Given the description of an element on the screen output the (x, y) to click on. 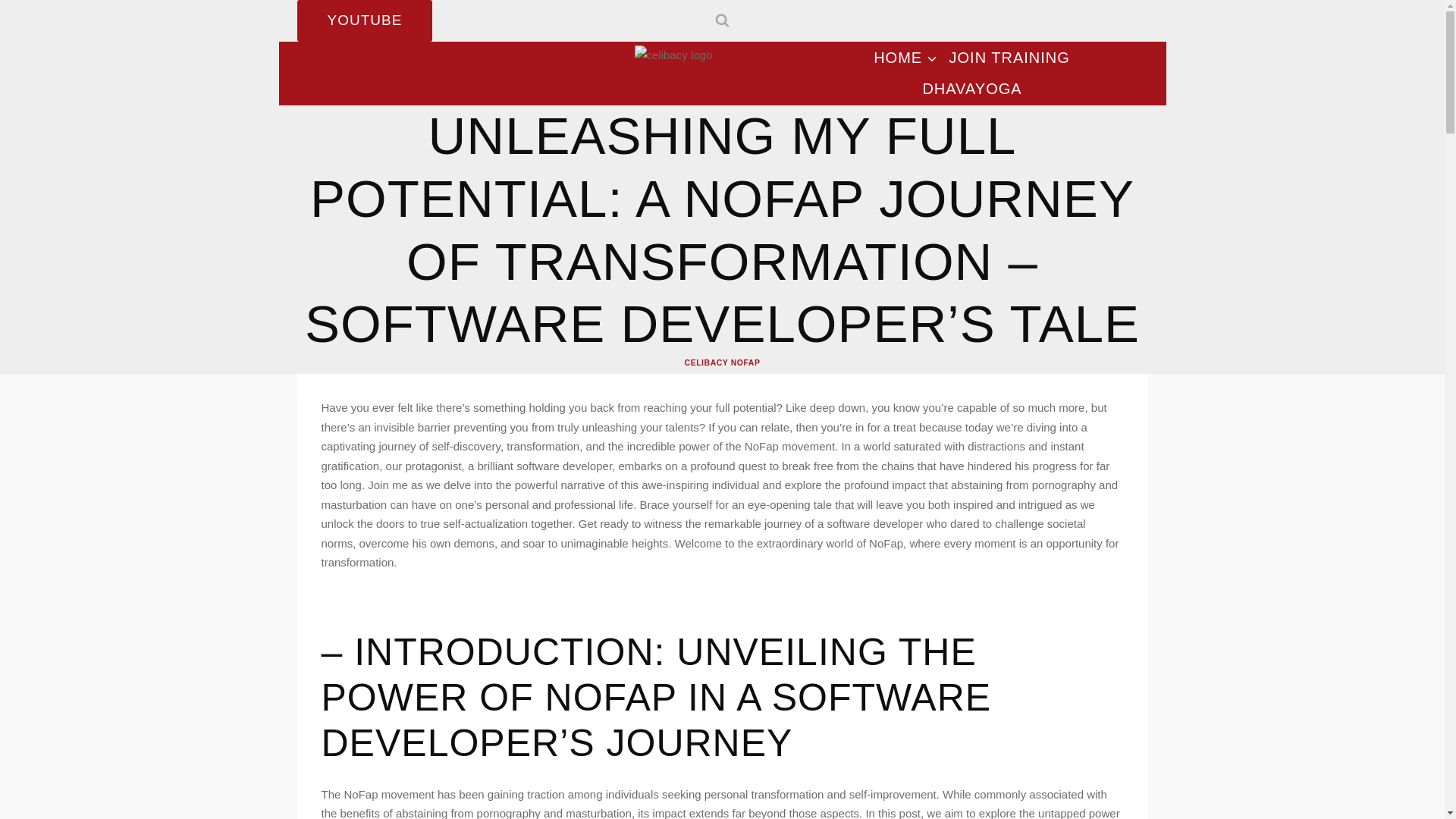
JOIN TRAINING (1009, 57)
DHAVAYOGA (972, 88)
YOUTUBE (364, 20)
CELIBACY NOFAP (722, 361)
Celibacy Yoga meditations (904, 57)
HOME (904, 57)
